Given the description of an element on the screen output the (x, y) to click on. 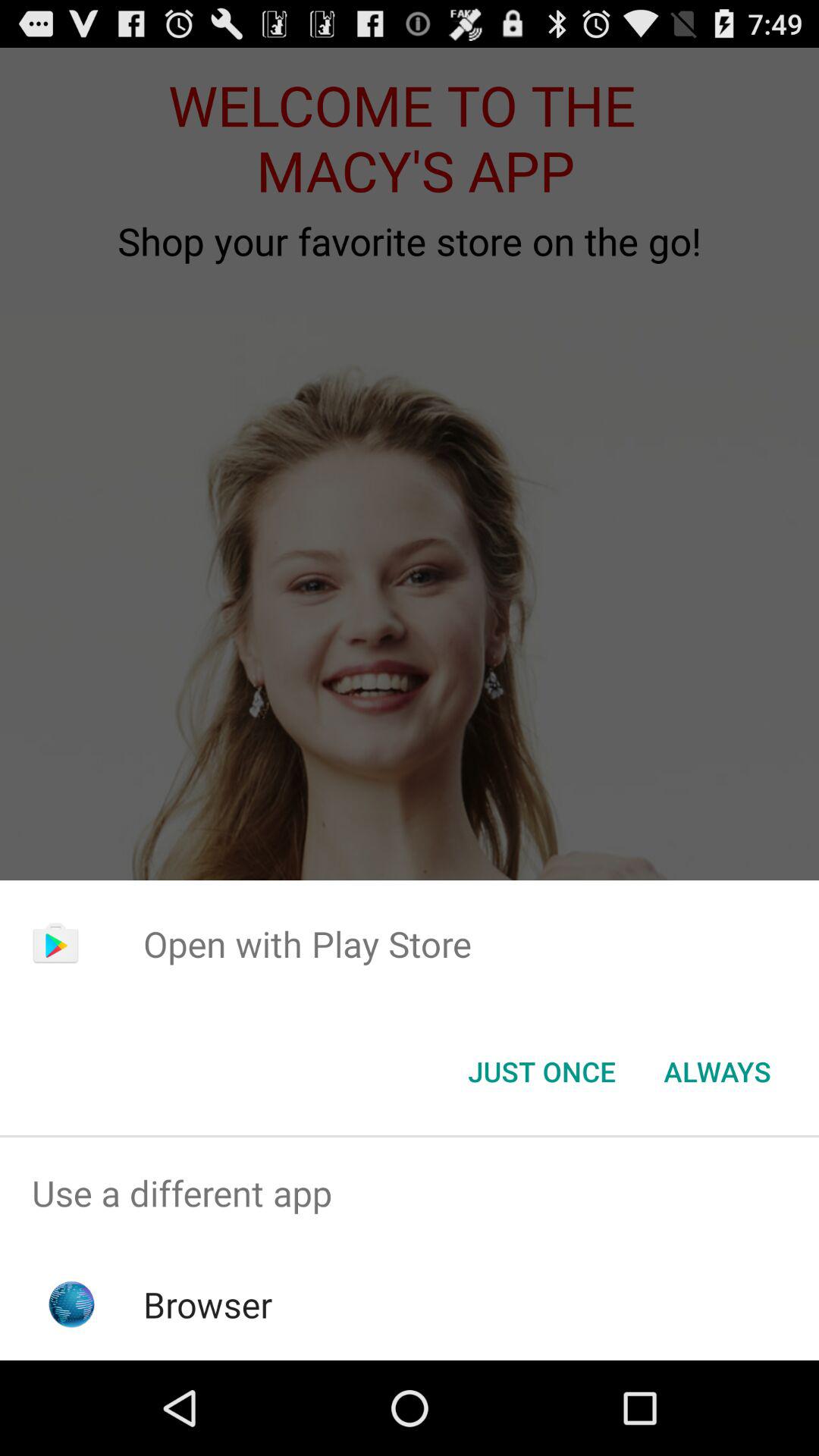
choose button next to always (541, 1071)
